Given the description of an element on the screen output the (x, y) to click on. 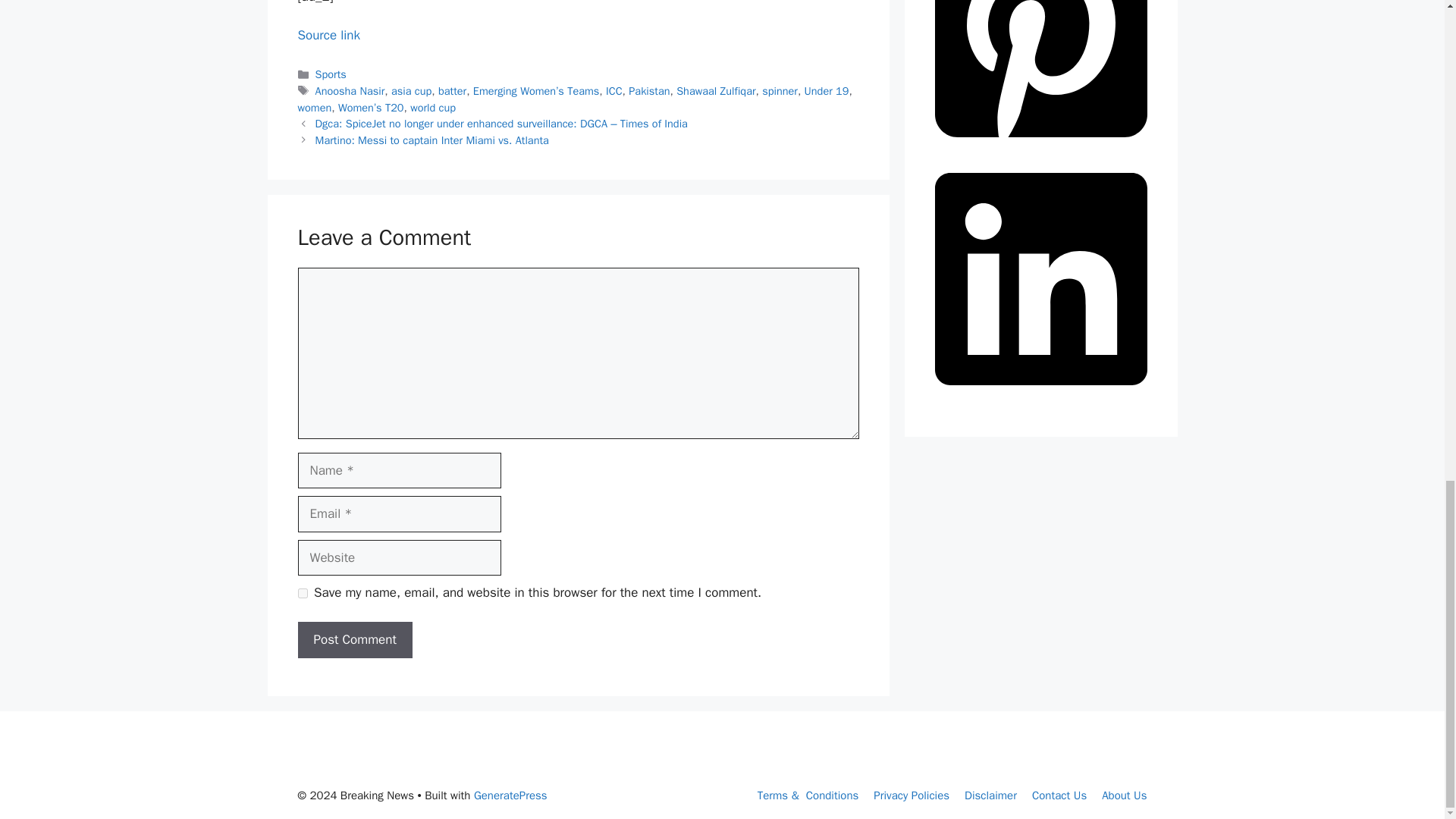
Post Comment (354, 639)
world cup (432, 107)
Pakistan (648, 90)
asia cup (410, 90)
Post Comment (354, 639)
Anoosha Nasir (350, 90)
Shawaal Zulfiqar (716, 90)
Sports (330, 74)
women (314, 107)
ICC (614, 90)
yes (302, 593)
batter (451, 90)
Source link (328, 35)
Martino: Messi to captain Inter Miami vs. Atlanta (431, 140)
Under 19 (826, 90)
